Given the description of an element on the screen output the (x, y) to click on. 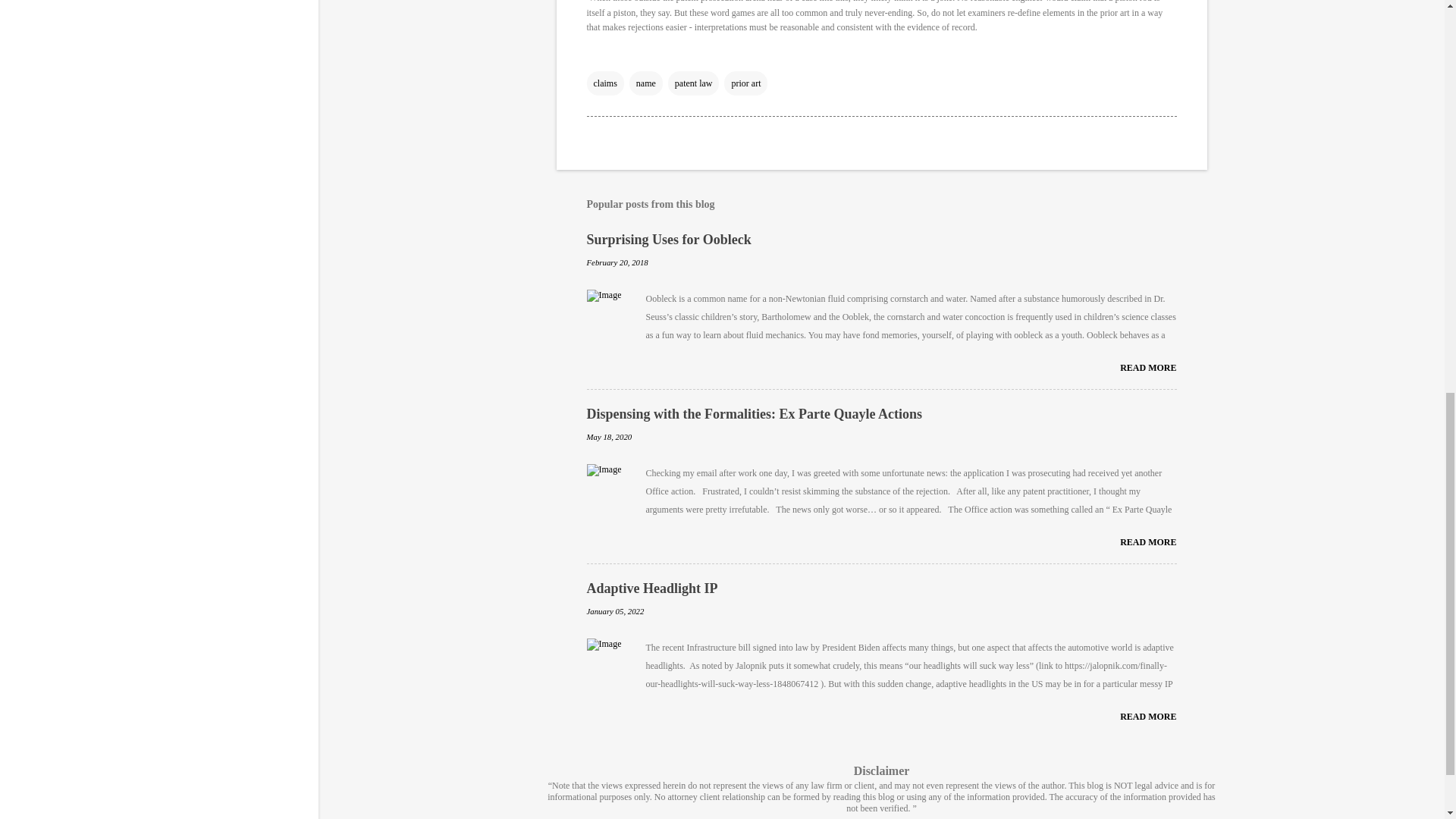
permanent link (608, 436)
READ MORE (1147, 716)
name (645, 83)
patent law (693, 83)
May 18, 2020 (608, 436)
permanent link (615, 610)
permanent link (616, 261)
Adaptive Headlight IP (651, 588)
January 05, 2022 (615, 610)
READ MORE (1147, 367)
